Given the description of an element on the screen output the (x, y) to click on. 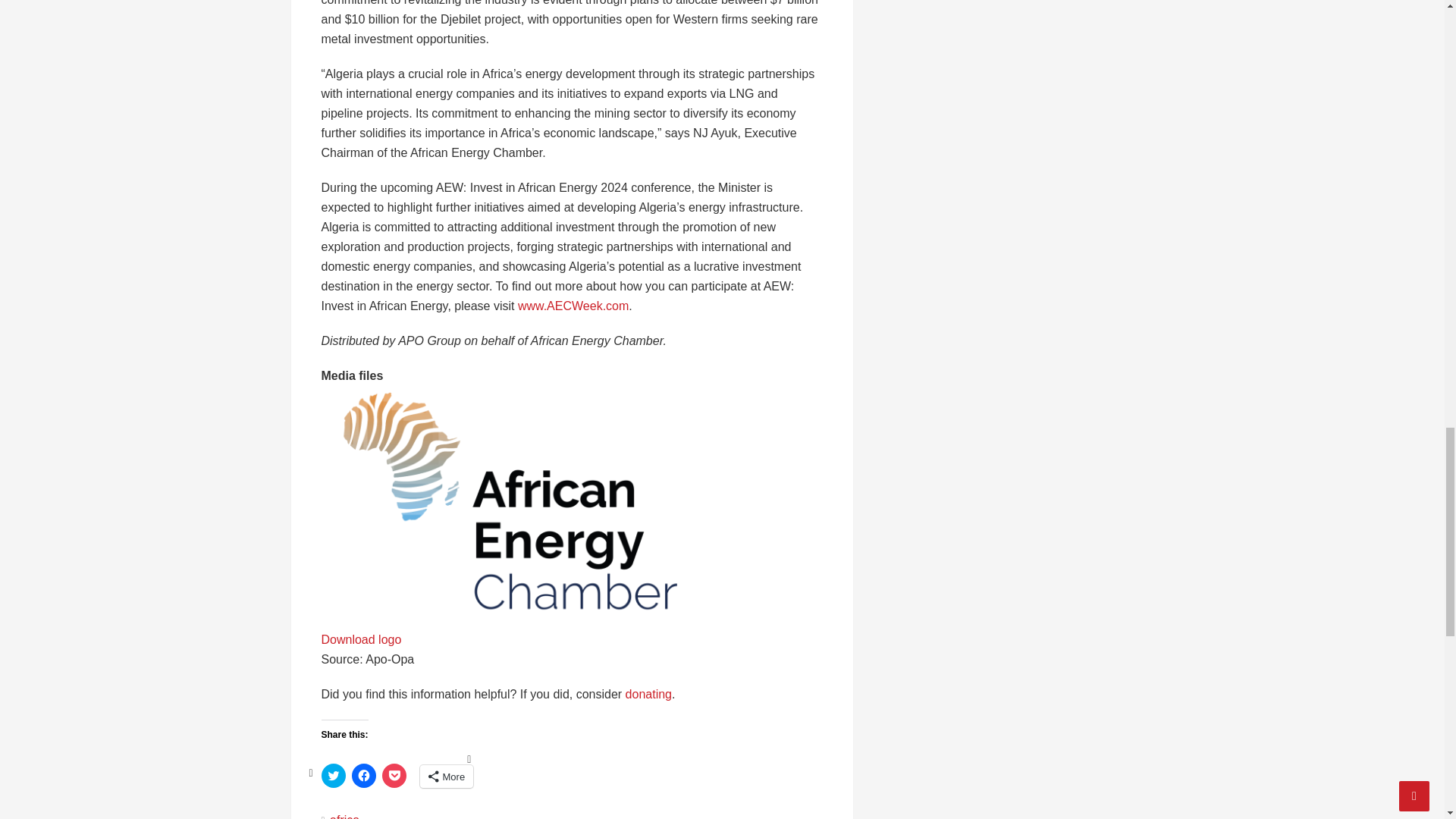
More (447, 775)
Download logo (361, 639)
www.AECWeek.com (573, 305)
Click to share on Pocket (393, 775)
Click to share on Twitter (333, 775)
africa (344, 816)
donating (648, 694)
Click to share on Facebook (363, 775)
